Given the description of an element on the screen output the (x, y) to click on. 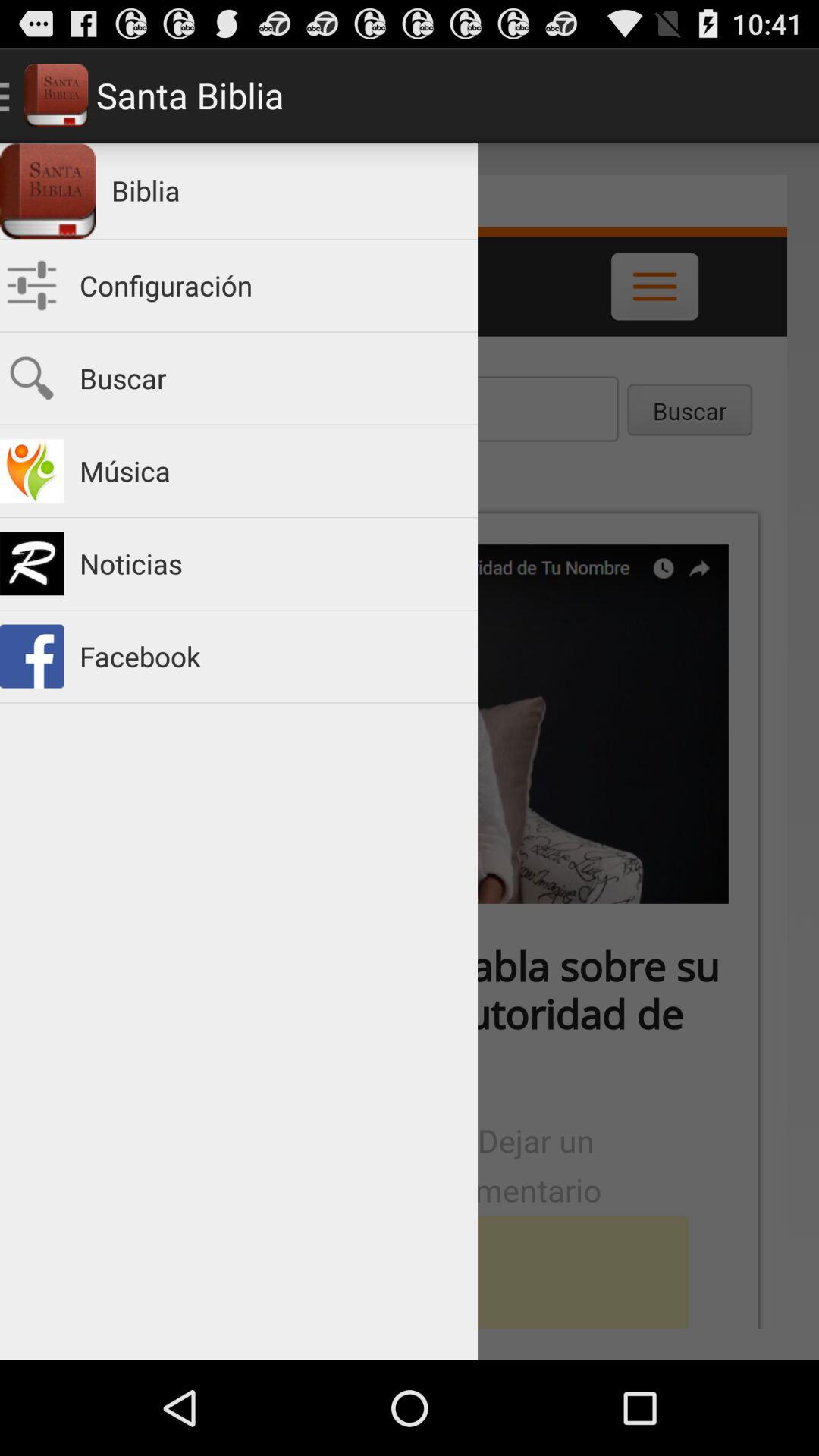
press the noticias item (270, 563)
